Given the description of an element on the screen output the (x, y) to click on. 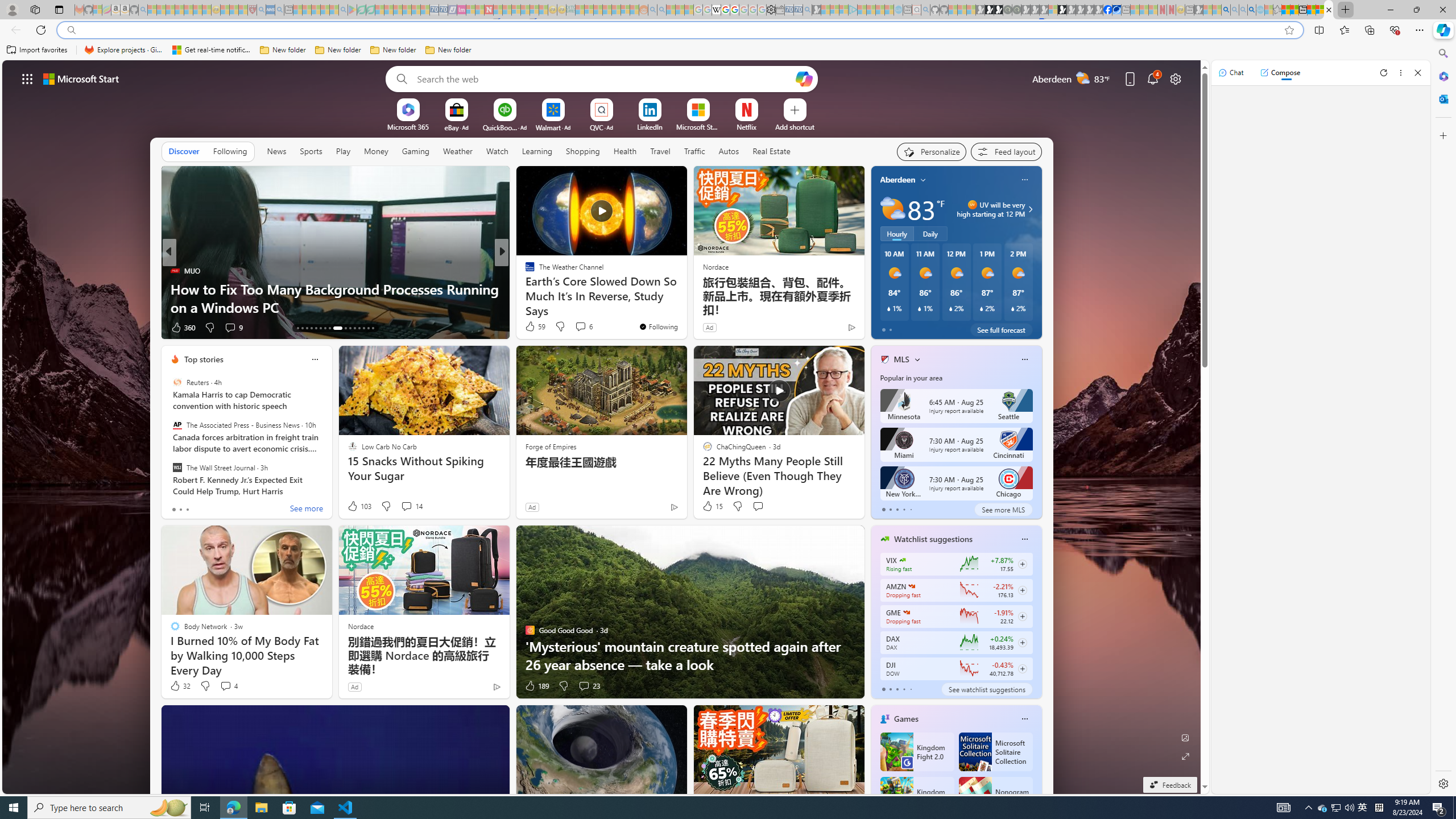
View comments 6 Comment (582, 326)
Privacy Help Center - Policies Help (725, 9)
Daily (929, 233)
The Associated Press - Business News (176, 424)
Future Focus Report 2024 - Sleeping (1016, 9)
Travel (660, 151)
Earth Continents Down To Six After New Study (684, 307)
